Given the description of an element on the screen output the (x, y) to click on. 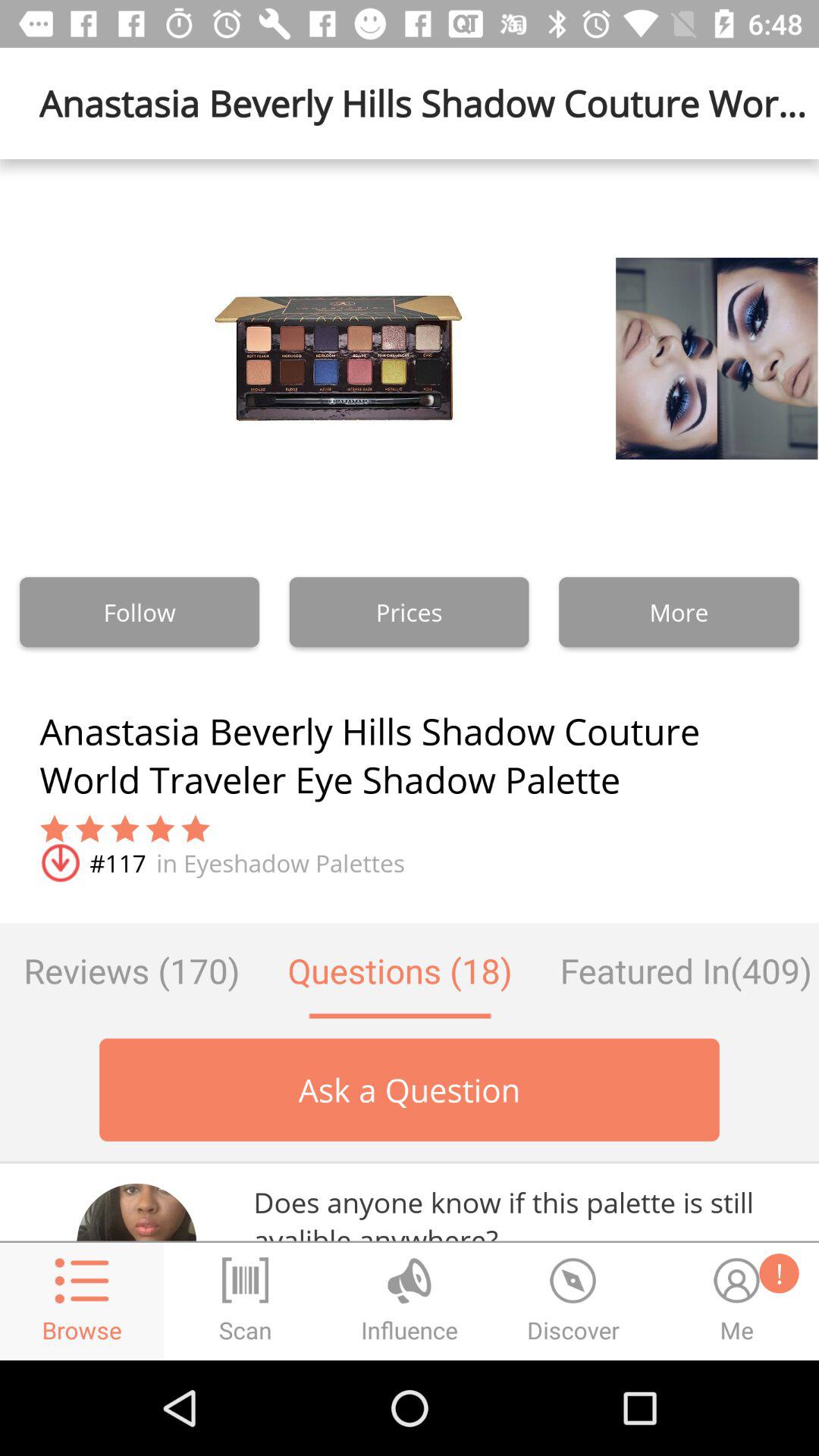
select the image which is above the follow and prices button (337, 358)
click on follow (139, 611)
select the red circle with downward arrow button which is above reviews 170 (59, 863)
click on scan (245, 1301)
go to icon on top of text discover (573, 1280)
select the image which is above more (678, 358)
